Given the description of an element on the screen output the (x, y) to click on. 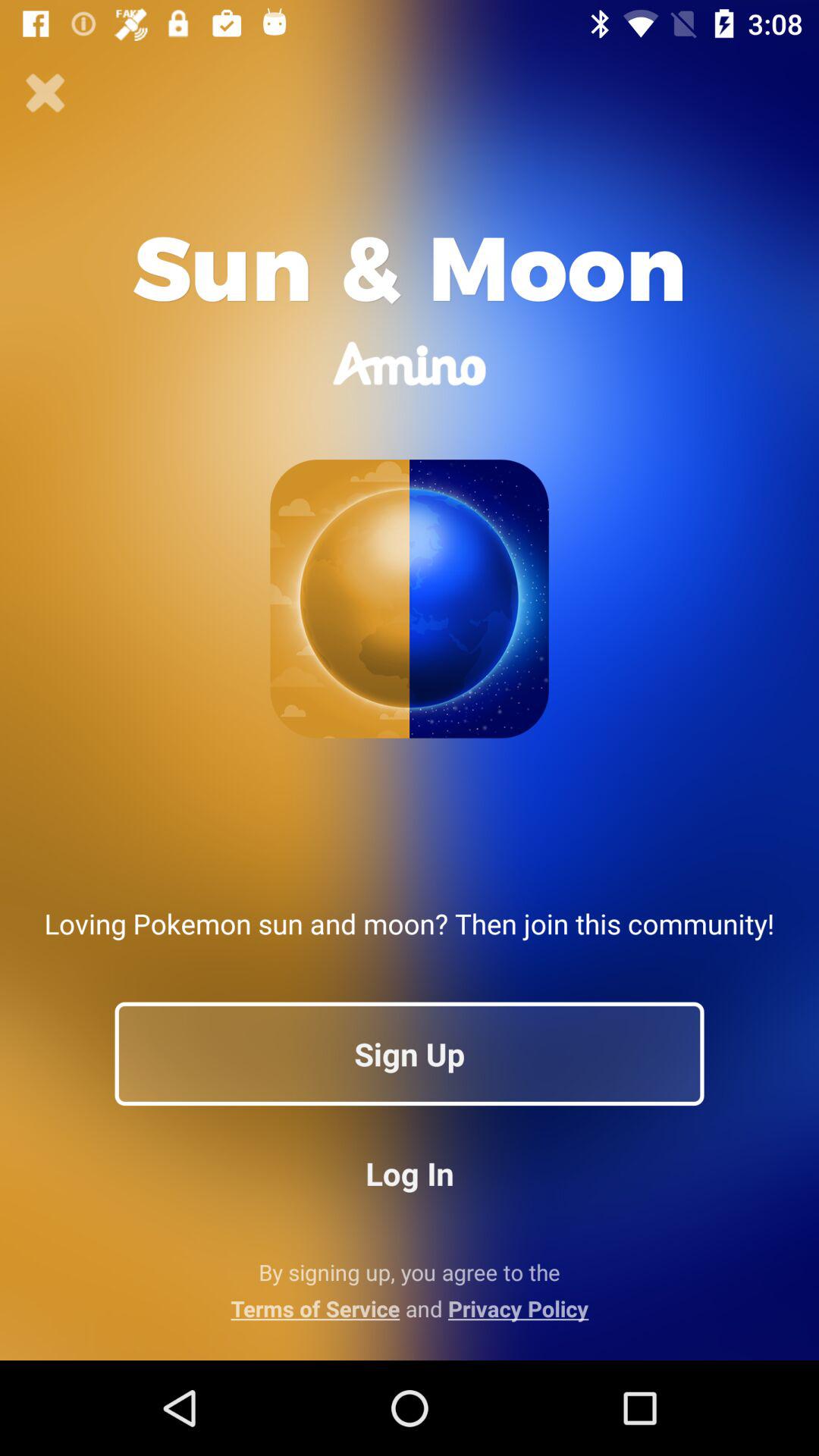
swipe to the sign up item (409, 1053)
